Given the description of an element on the screen output the (x, y) to click on. 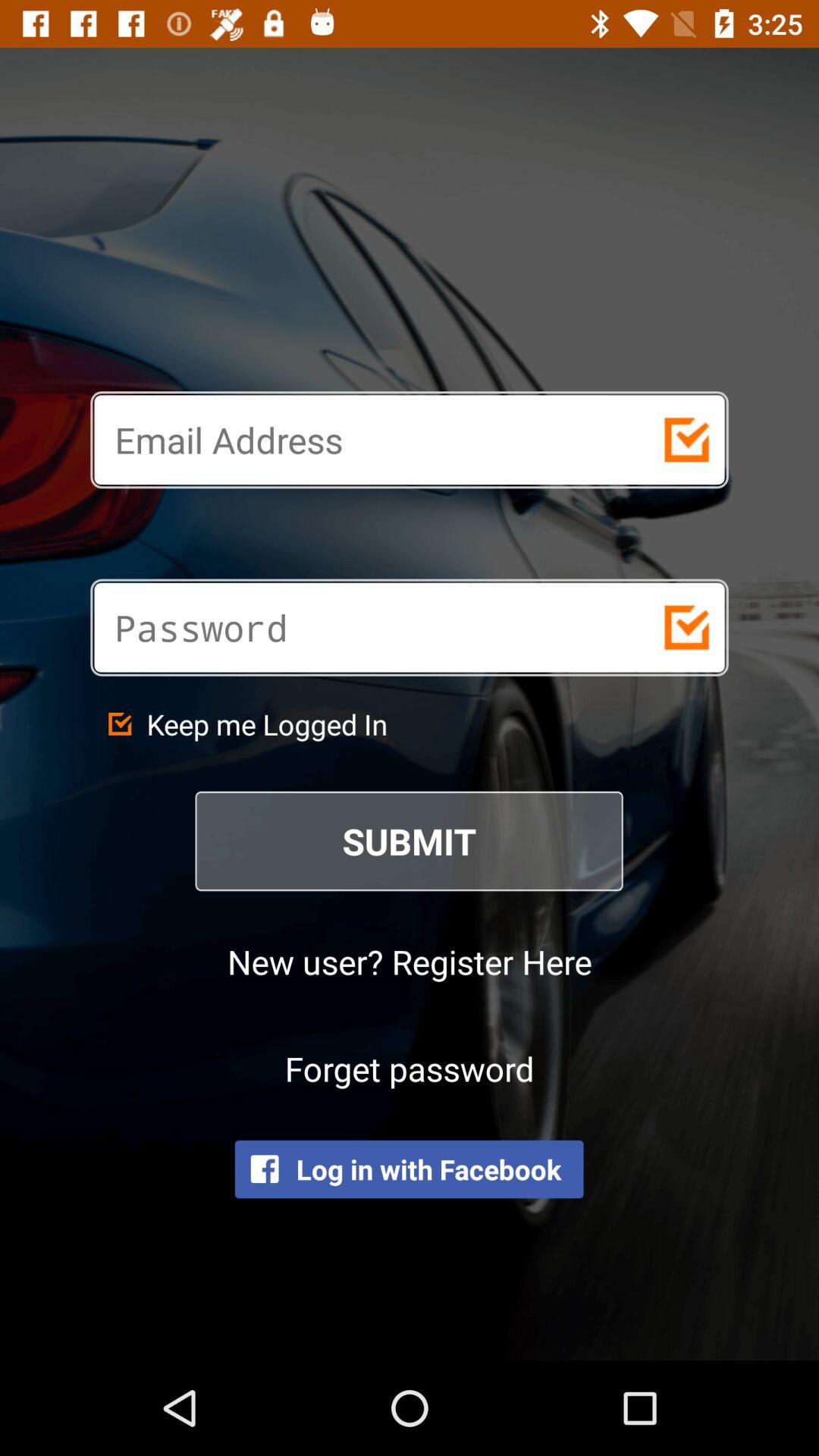
flip to the new user register (409, 961)
